Given the description of an element on the screen output the (x, y) to click on. 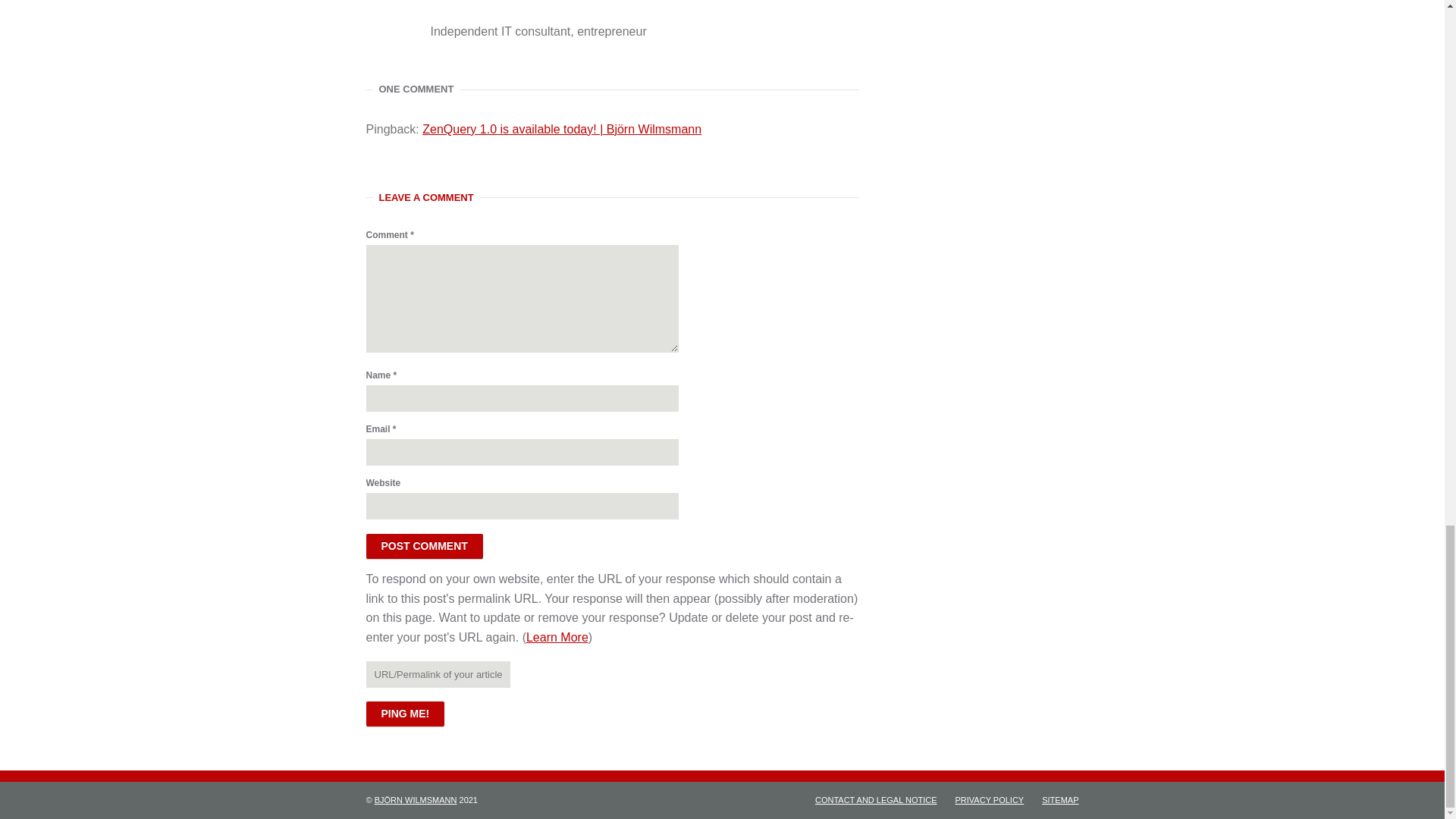
Post Comment (423, 545)
Ping me! (404, 713)
CONTACT AND LEGAL NOTICE (876, 799)
Post Comment (423, 545)
SITEMAP (1055, 799)
Learn More (556, 636)
PRIVACY POLICY (989, 799)
Ping me! (404, 713)
